Given the description of an element on the screen output the (x, y) to click on. 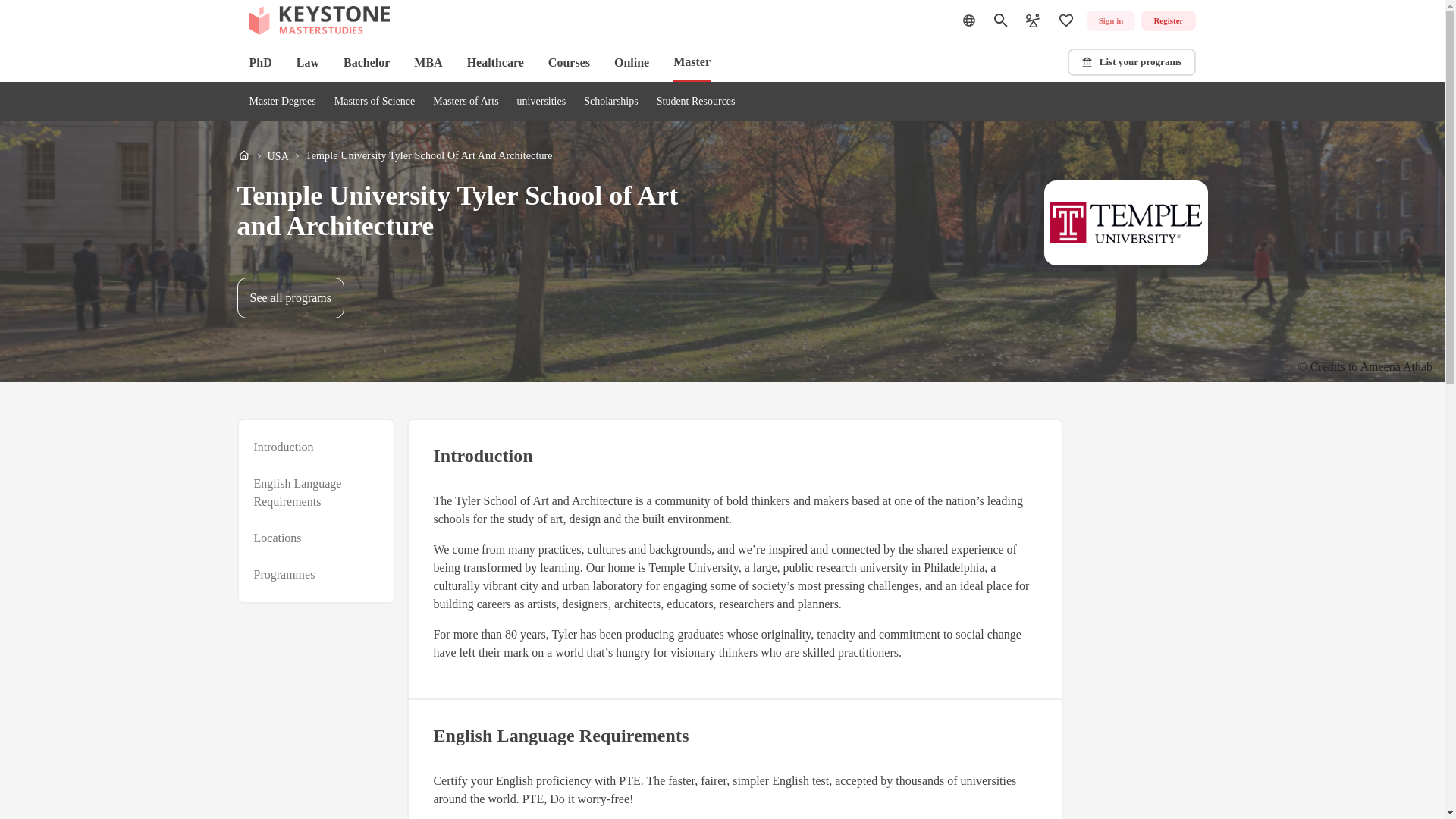
Master Degrees (393, 156)
Scholarships (281, 101)
English Language Requirements (611, 101)
Courses (314, 493)
Sign in (568, 63)
See all programs (1110, 20)
List your programs (289, 297)
Programmes (1131, 62)
